Given the description of an element on the screen output the (x, y) to click on. 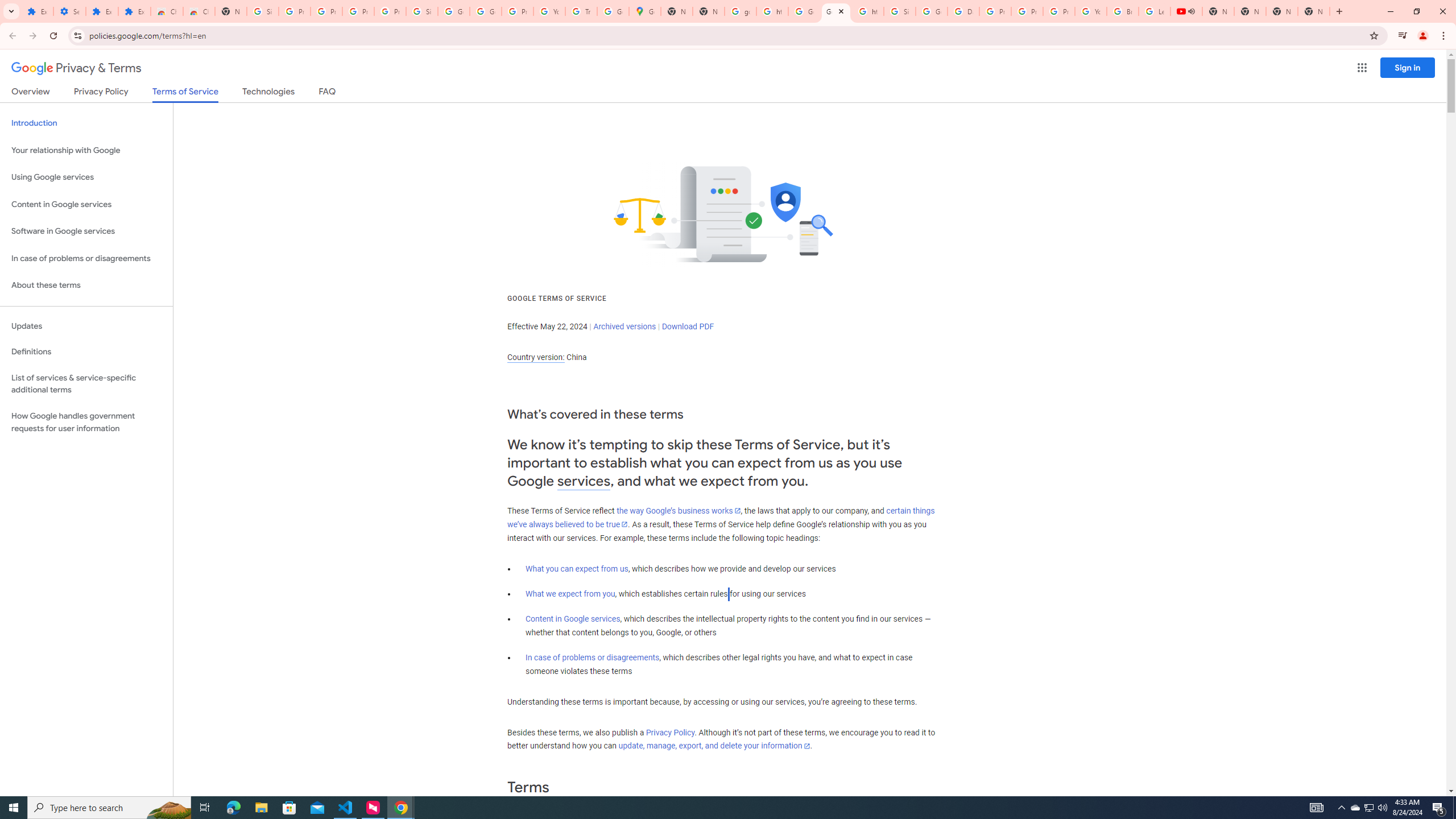
Download PDF (687, 326)
Software in Google services (86, 230)
Address and search bar (725, 35)
